Given the description of an element on the screen output the (x, y) to click on. 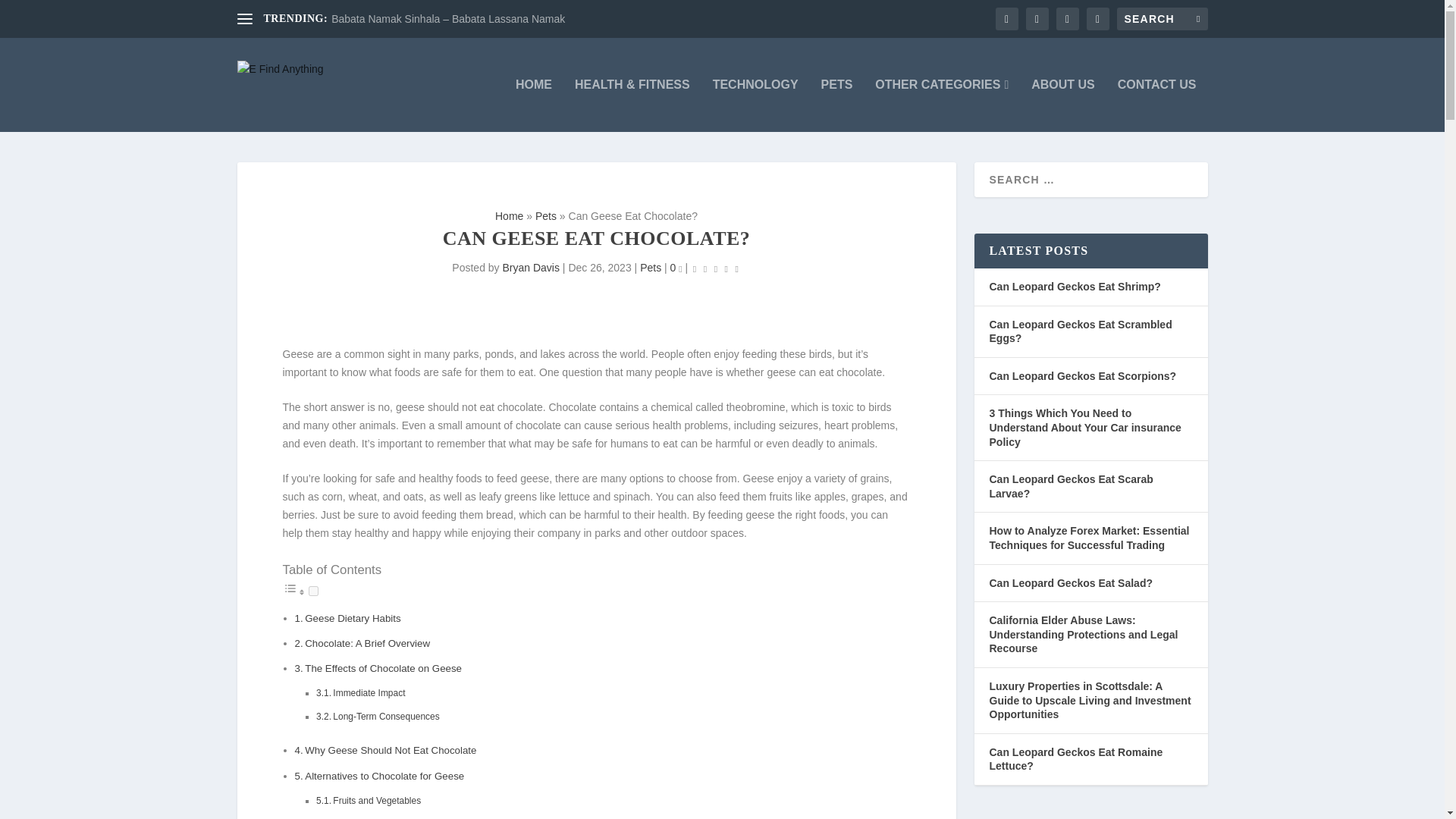
Rating: 0.00 (715, 268)
on (312, 591)
Fruits and Vegetables (376, 800)
Search for: (1161, 18)
Immediate Impact (368, 692)
Long-Term Consequences (386, 716)
The Effects of Chocolate on Geese (382, 668)
Chocolate: A Brief Overview (366, 643)
Chocolate: A Brief Overview (366, 643)
Home (508, 215)
